Given the description of an element on the screen output the (x, y) to click on. 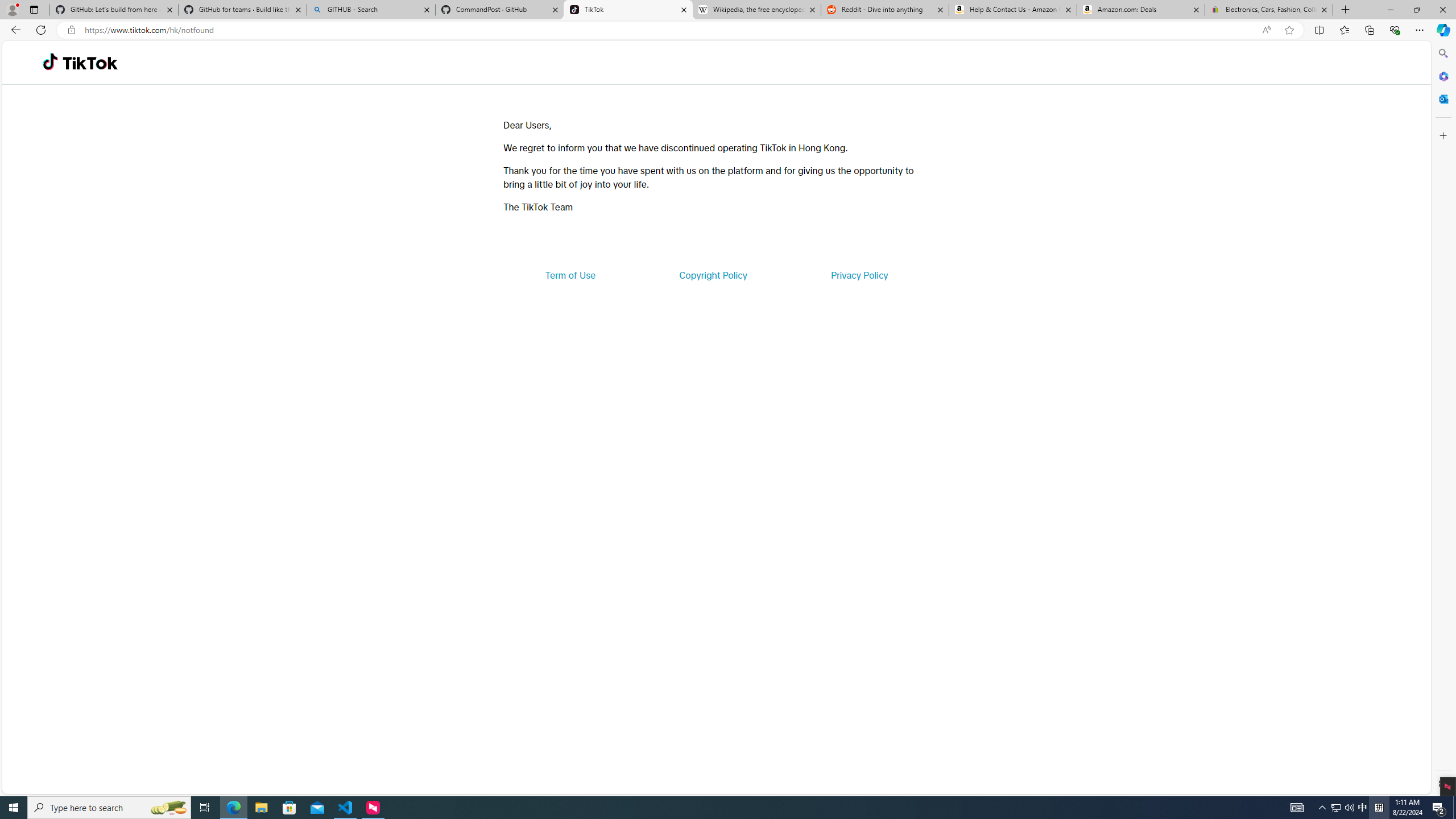
Copyright Policy (712, 274)
TikTok (628, 9)
